Given the description of an element on the screen output the (x, y) to click on. 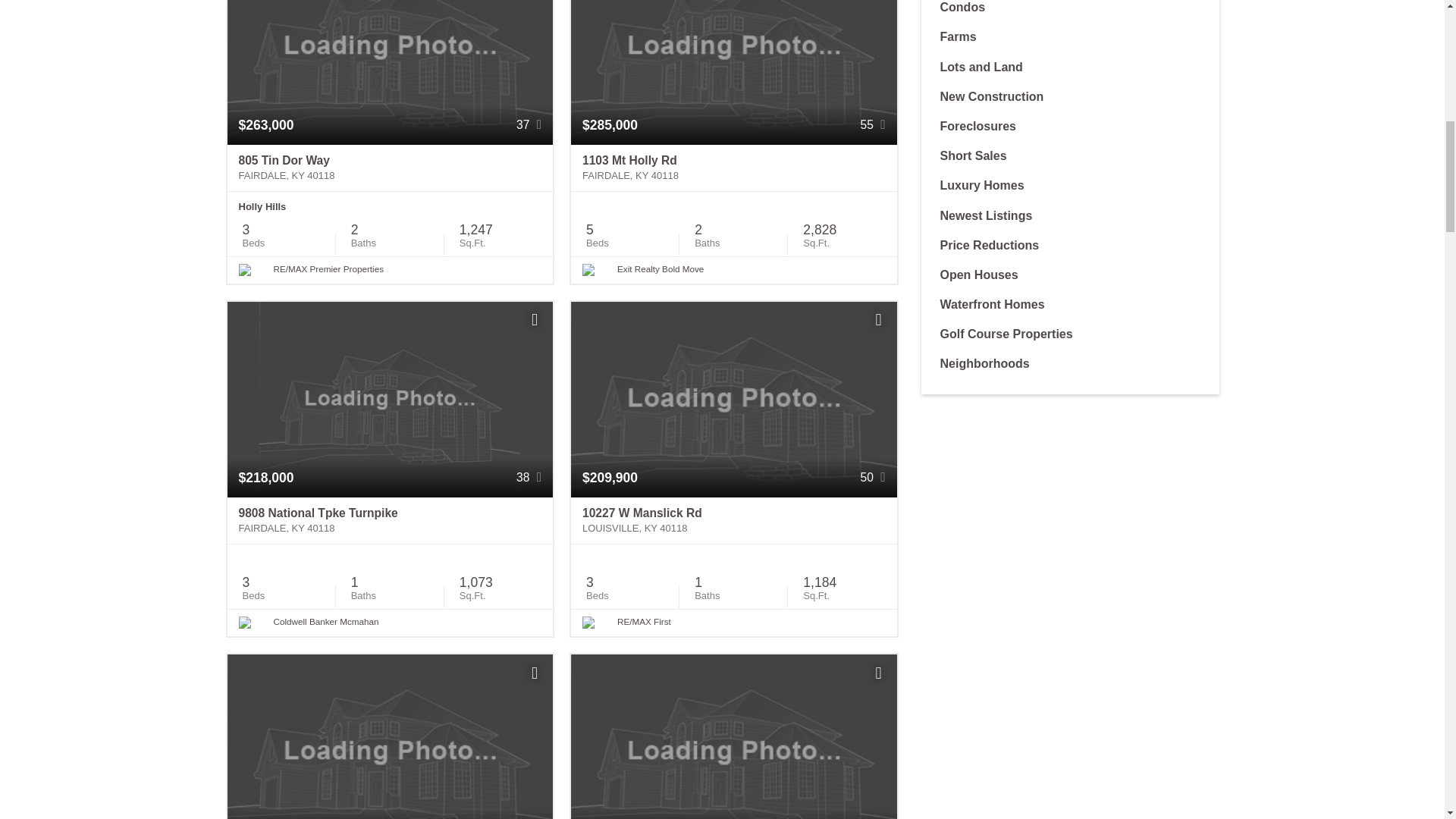
9808 National Tpke Turnpike Fairdale,  KY 40118 (390, 520)
805 Tin Dor Way Fairdale,  KY 40118 (390, 167)
1103 Mt Holly Rd Fairdale,  KY 40118 (733, 167)
10227 W Manslick Rd Louisville,  KY 40118 (733, 520)
